Given the description of an element on the screen output the (x, y) to click on. 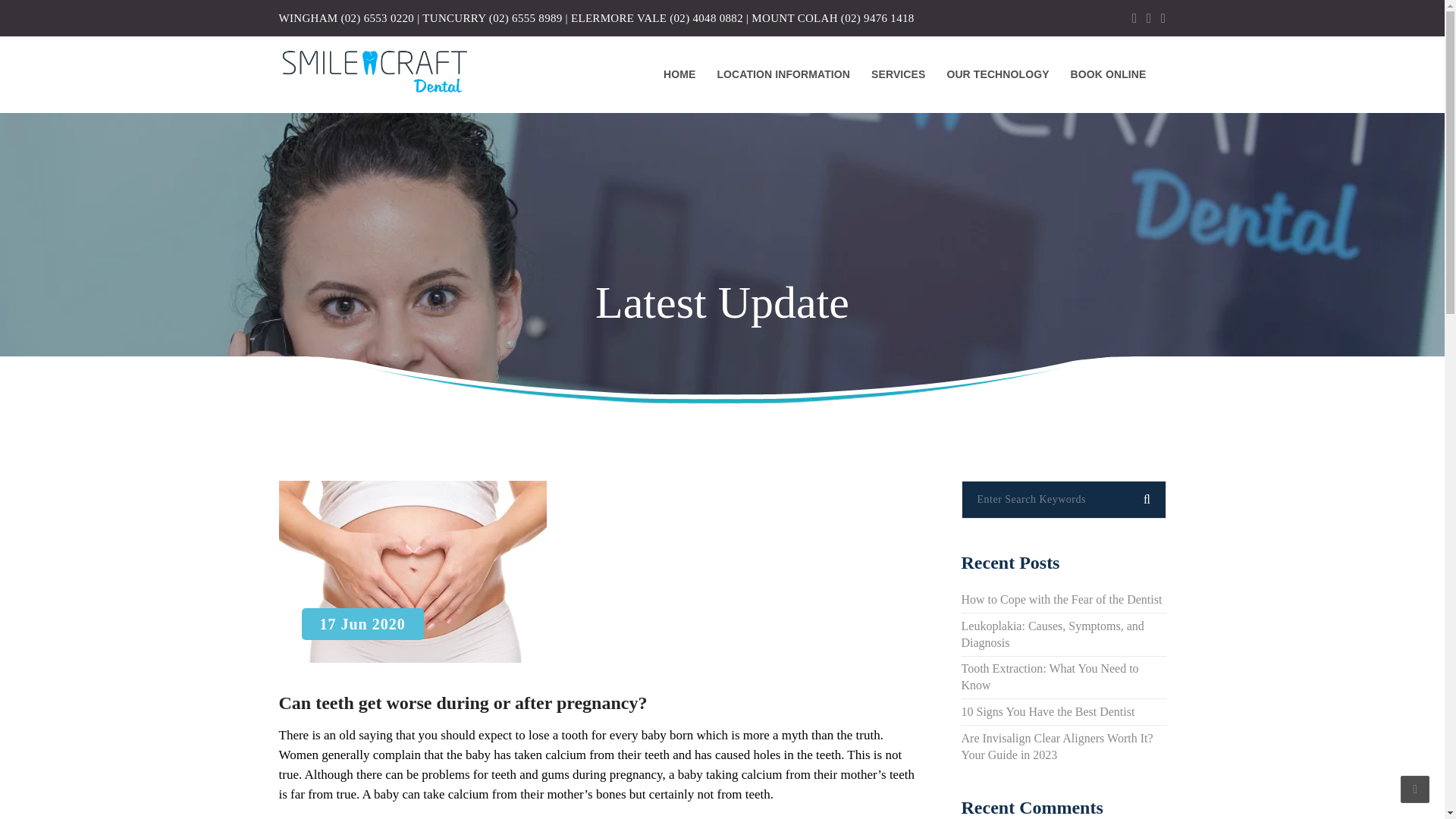
LOCATION INFORMATION (783, 74)
17 Jun 2020 (413, 571)
Are Invisalign Clear Aligners Worth It? Your Guide in 2023 (1056, 746)
BOOK ONLINE (1108, 74)
OUR TECHNOLOGY (997, 74)
Leukoplakia: Causes, Symptoms, and Diagnosis (1052, 634)
Tooth Extraction: What You Need to Know (1049, 676)
SERVICES (898, 74)
10 Signs You Have the Best Dentist (1047, 711)
How to Cope with the Fear of the Dentist (1060, 599)
